Given the description of an element on the screen output the (x, y) to click on. 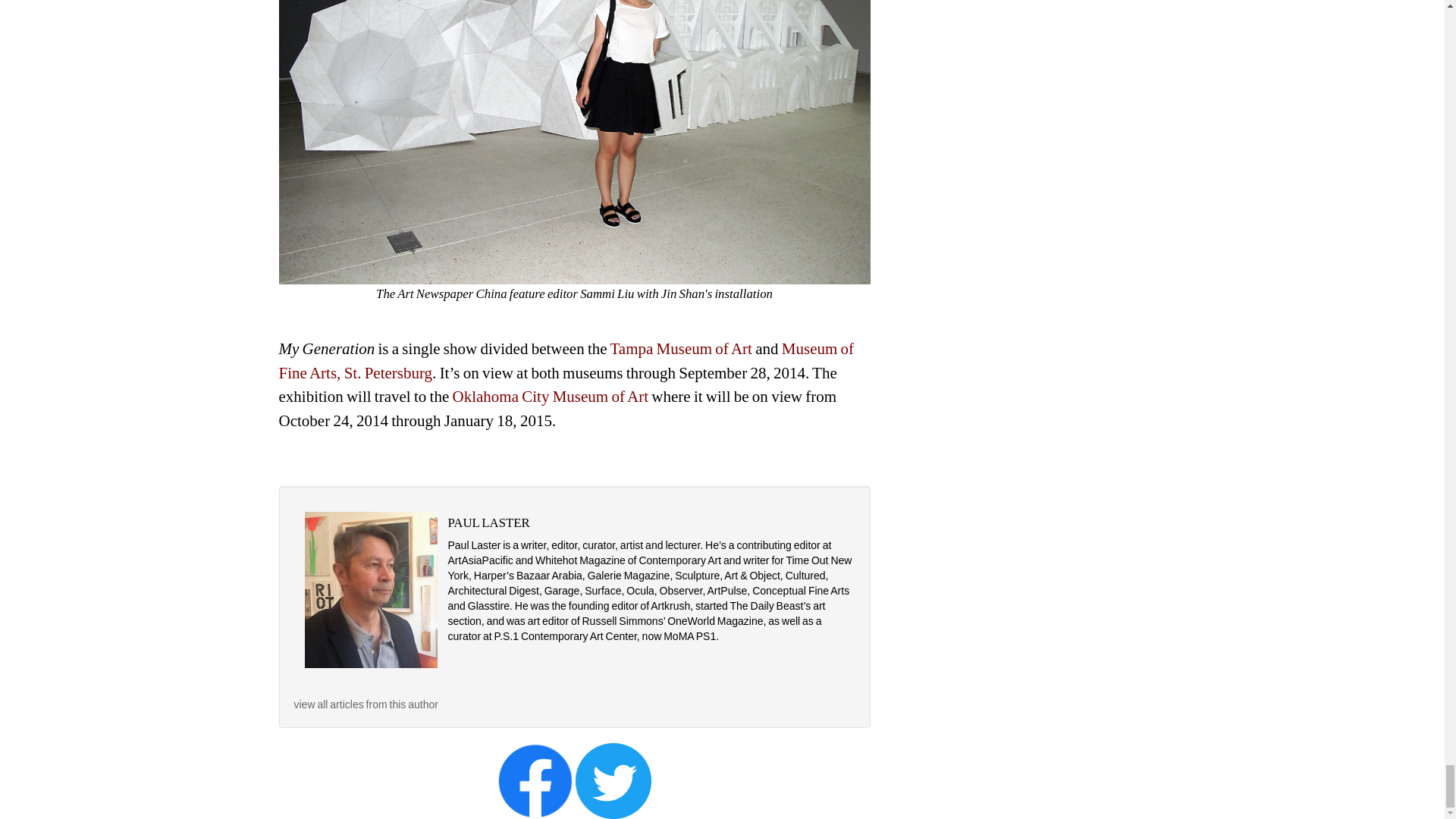
Tampa Museum of Art (681, 348)
view all articles from this author (366, 704)
Museum of Fine Arts, St. Petersburg (566, 360)
Facebook (535, 779)
Oklahoma City Museum of Art (547, 396)
